Given the description of an element on the screen output the (x, y) to click on. 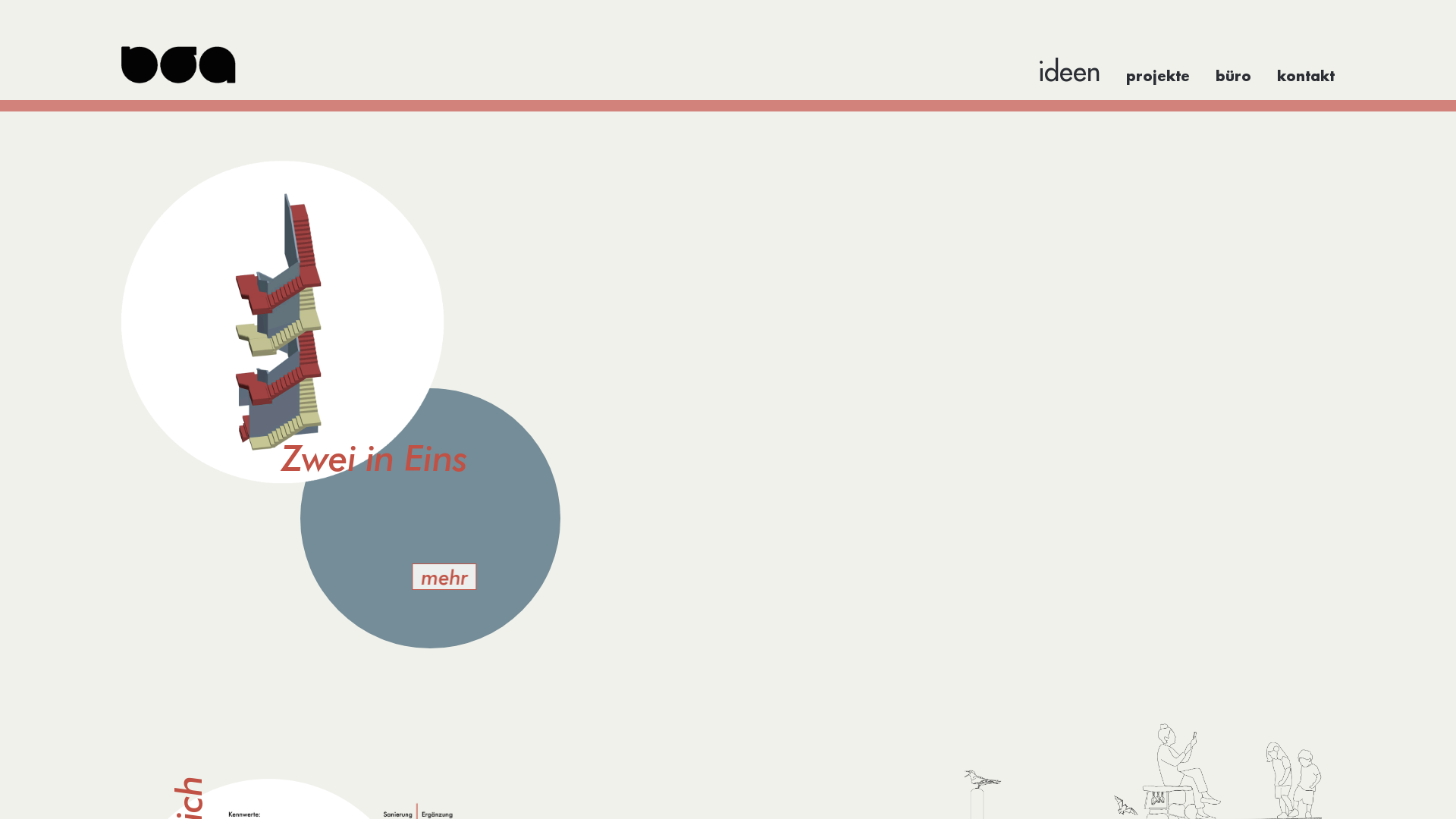
mehr Element type: text (443, 576)
projekte Element type: text (1157, 77)
kontakt Element type: text (1305, 77)
ideen Element type: text (1069, 70)
